Given the description of an element on the screen output the (x, y) to click on. 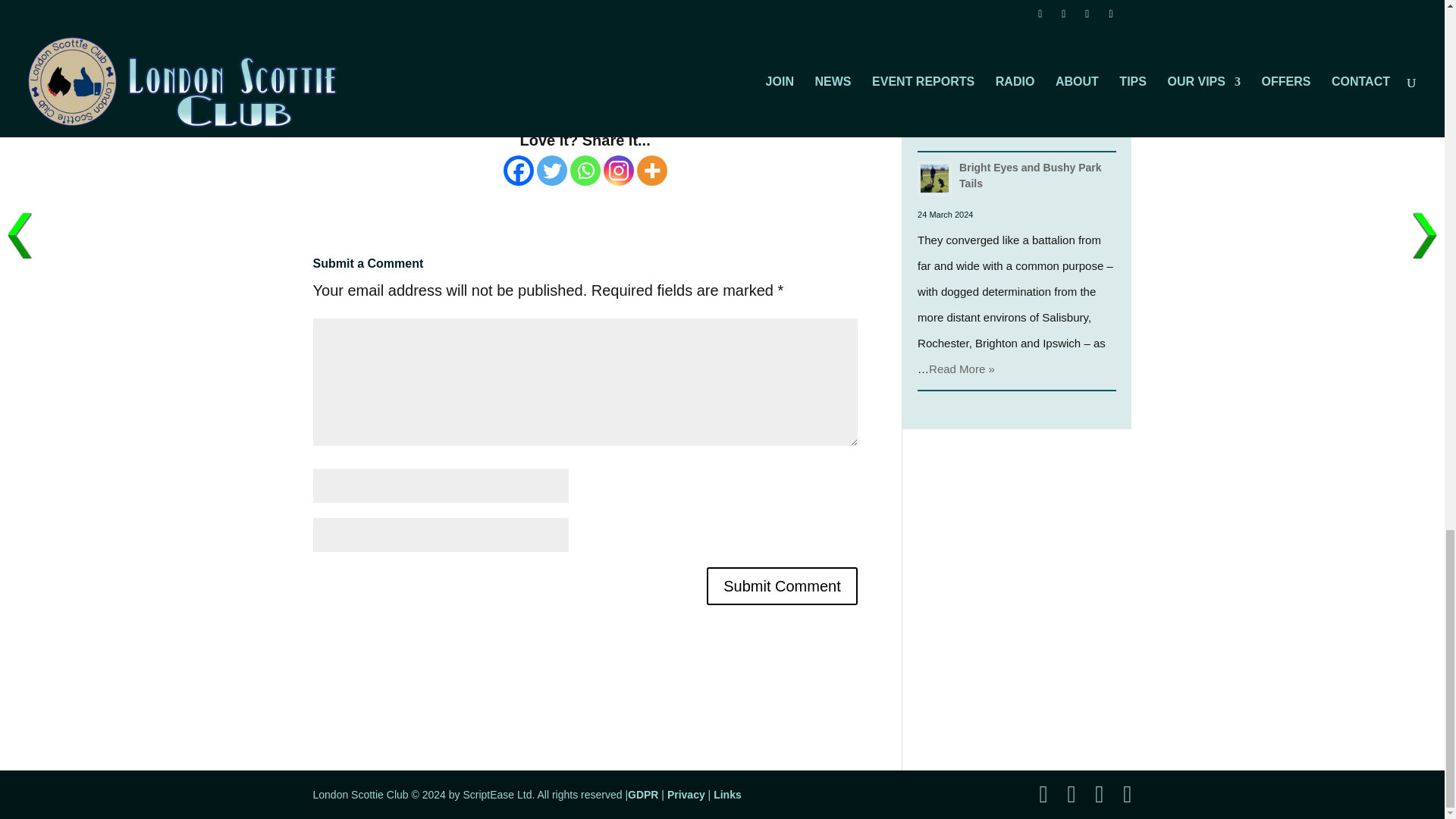
Instagram (618, 170)
Twitter (552, 170)
Whatsapp (584, 170)
Submit Comment (781, 586)
More (651, 170)
Submit Comment (781, 586)
Facebook (518, 170)
